Given the description of an element on the screen output the (x, y) to click on. 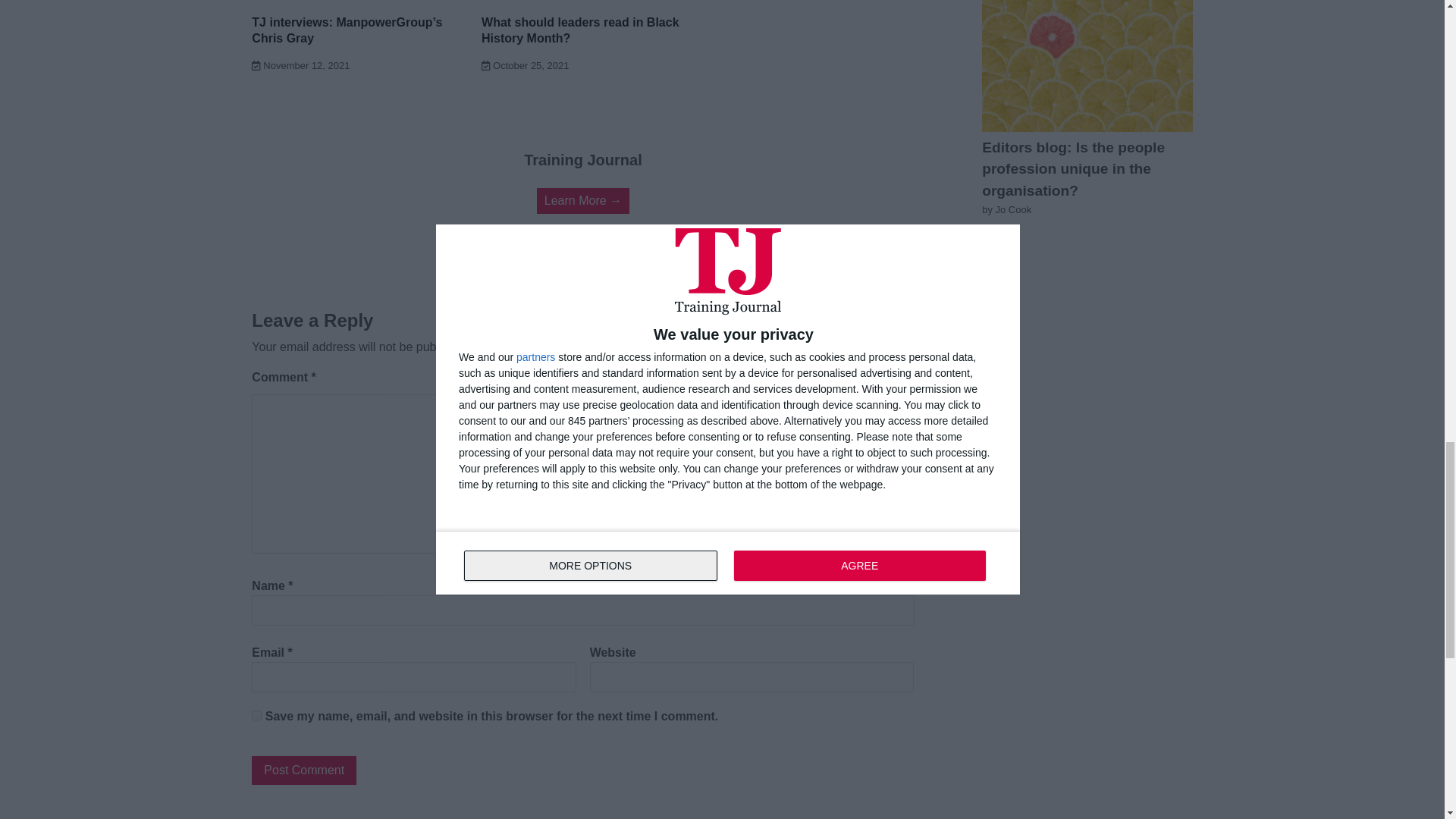
yes (256, 715)
Post Comment (303, 769)
